Given the description of an element on the screen output the (x, y) to click on. 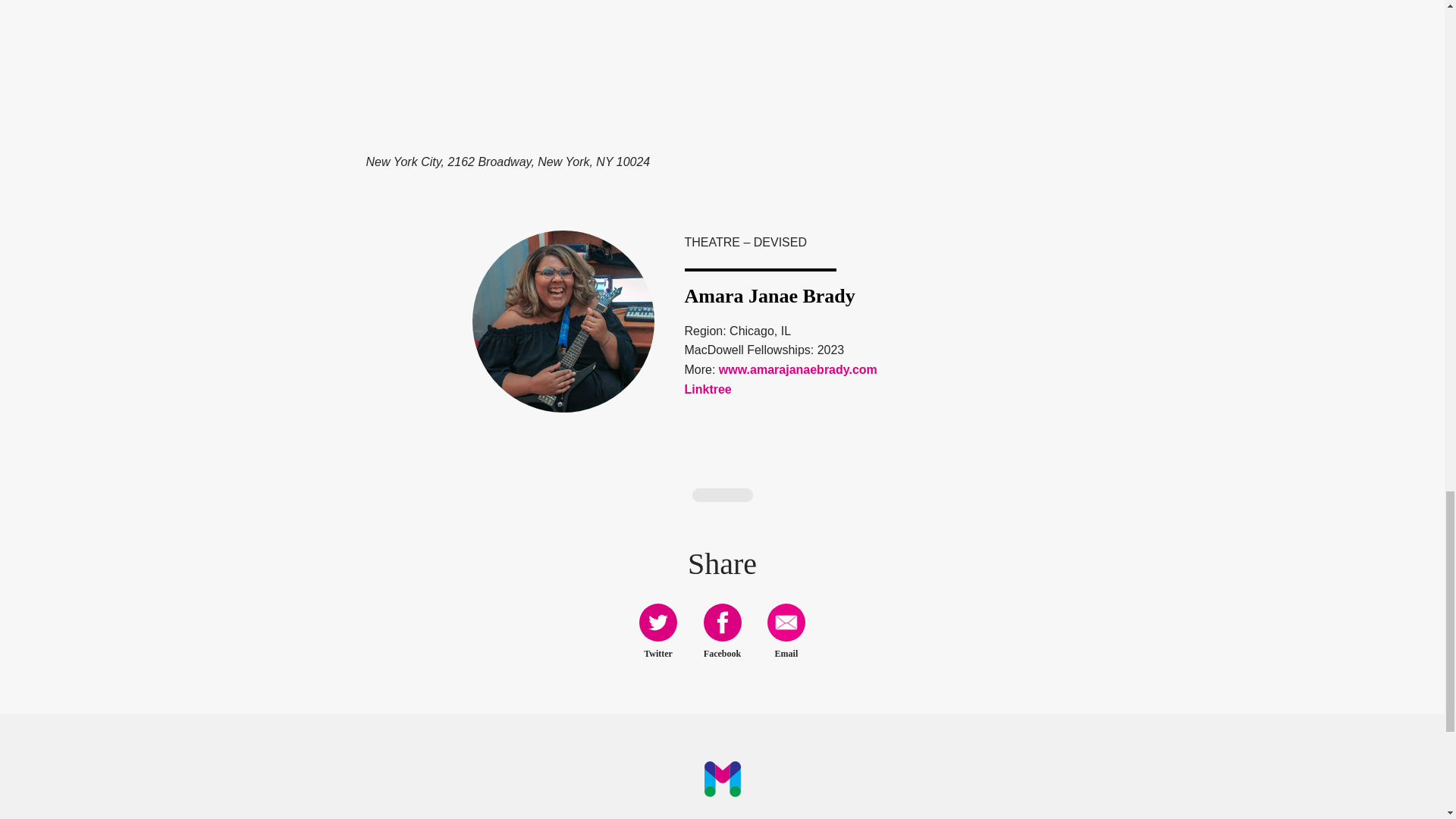
Linktree (707, 389)
Amara Janae Brady (769, 296)
Amara Janae Brady (562, 321)
Twitter (658, 622)
www.amarajanaebrady.com (798, 369)
